Given the description of an element on the screen output the (x, y) to click on. 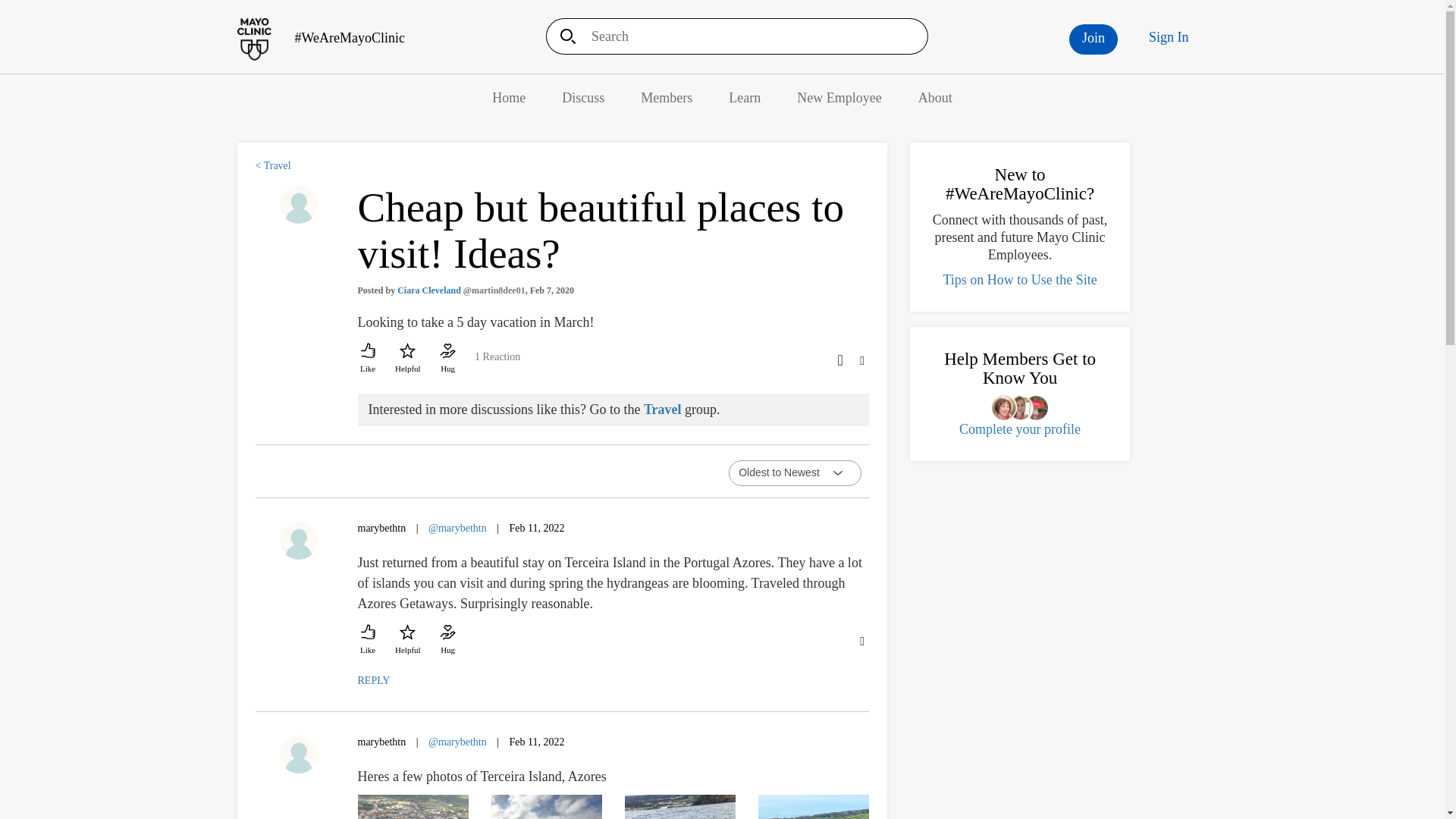
Discuss (583, 97)
Home (319, 37)
About (935, 97)
Travel (662, 409)
Join (1093, 39)
1 Reaction (496, 362)
Home (508, 97)
Home (508, 97)
Members (666, 97)
REPLY (374, 680)
